Given the description of an element on the screen output the (x, y) to click on. 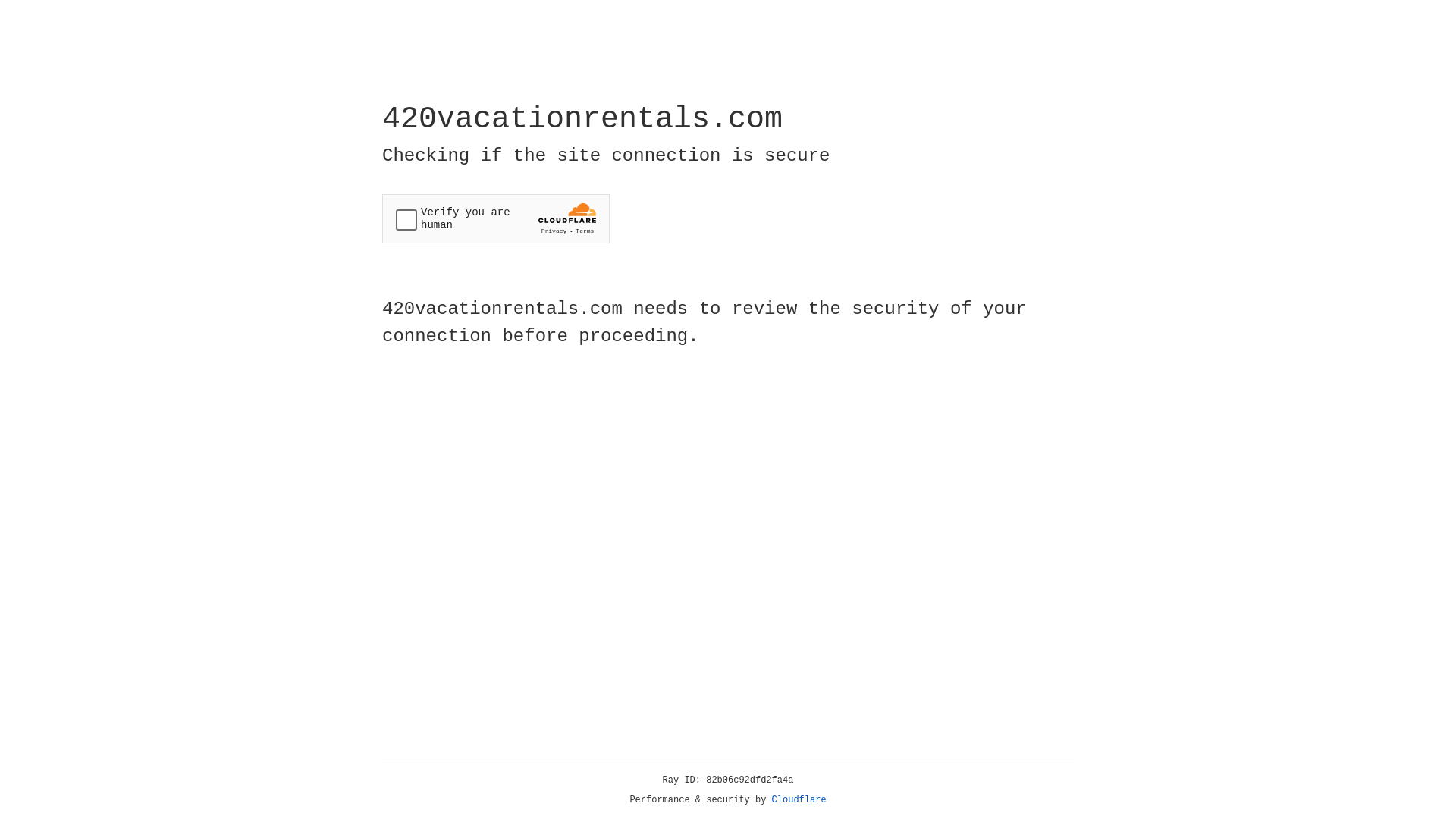
Widget containing a Cloudflare security challenge Element type: hover (495, 218)
Cloudflare Element type: text (798, 799)
